Given the description of an element on the screen output the (x, y) to click on. 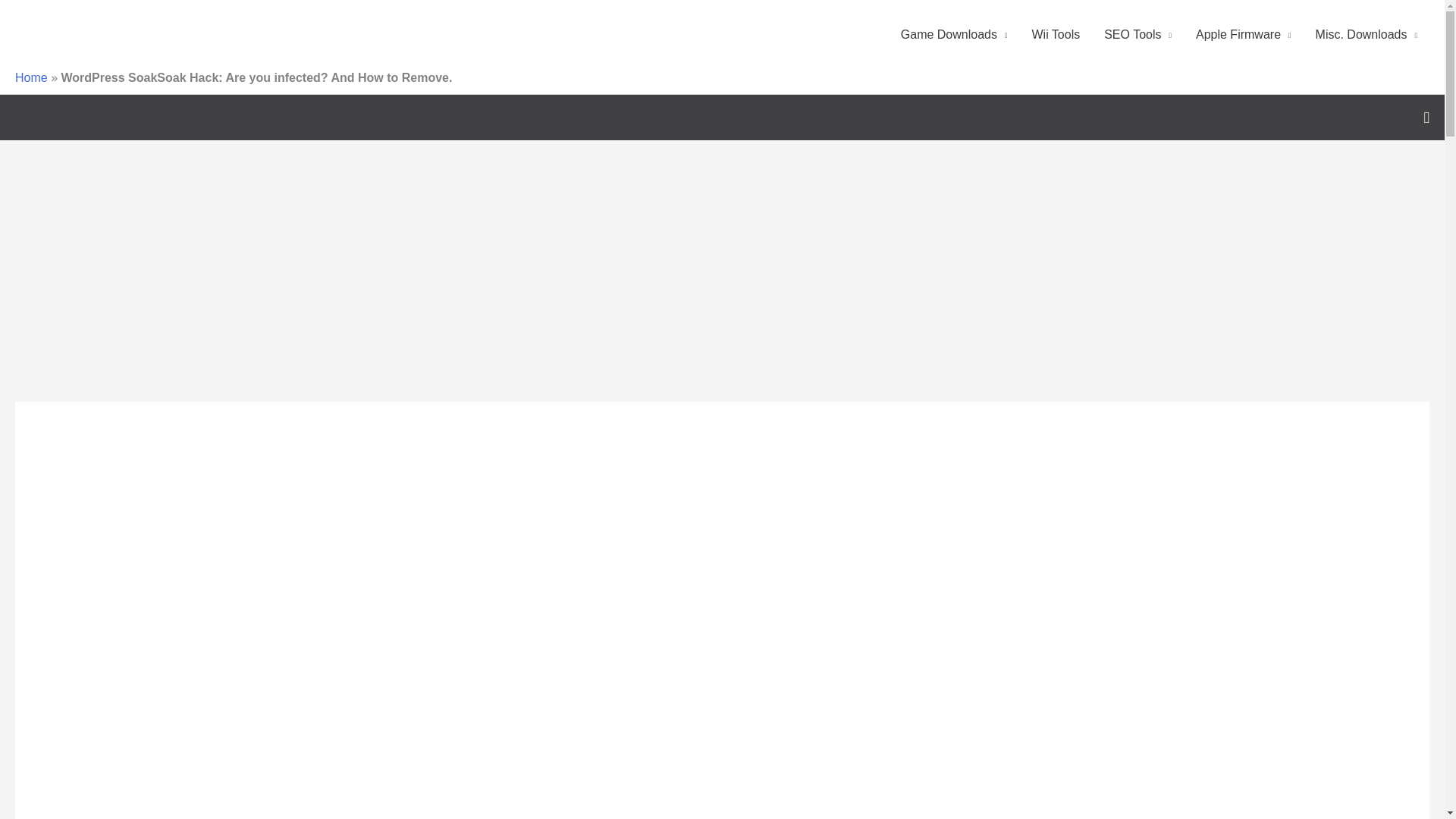
Game Downloads (954, 34)
Wii Tools (1055, 34)
Search (1426, 117)
Misc. Downloads (1366, 34)
SEO Tools (1137, 34)
Home (31, 77)
Apple Firmware (1243, 34)
